Given the description of an element on the screen output the (x, y) to click on. 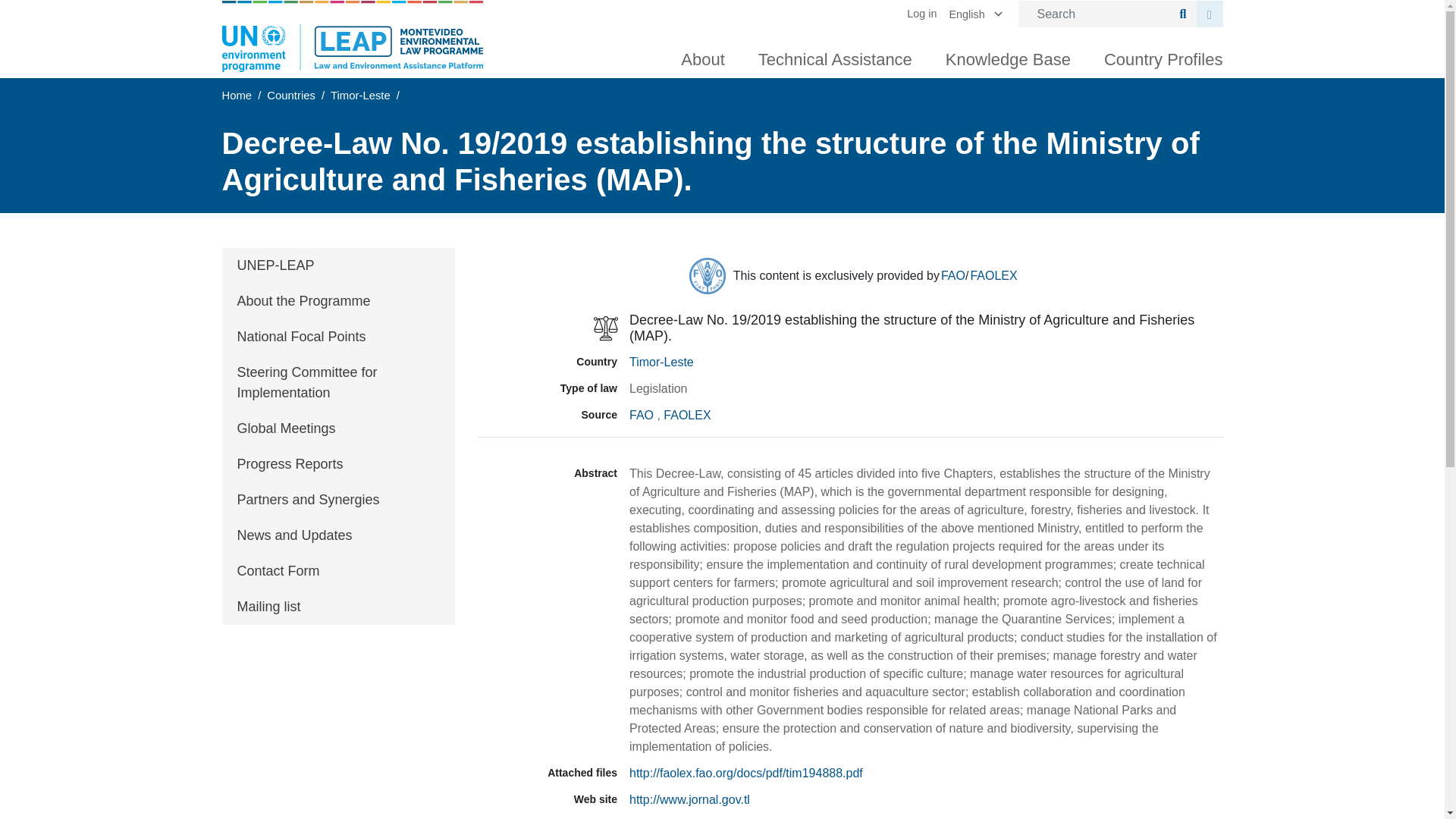
Knowledge Base (1007, 56)
English (978, 13)
Technical Assistance (834, 56)
Legislation (547, 328)
Log in (928, 14)
Home (352, 36)
About (702, 56)
Skip to main content (721, 1)
